Given the description of an element on the screen output the (x, y) to click on. 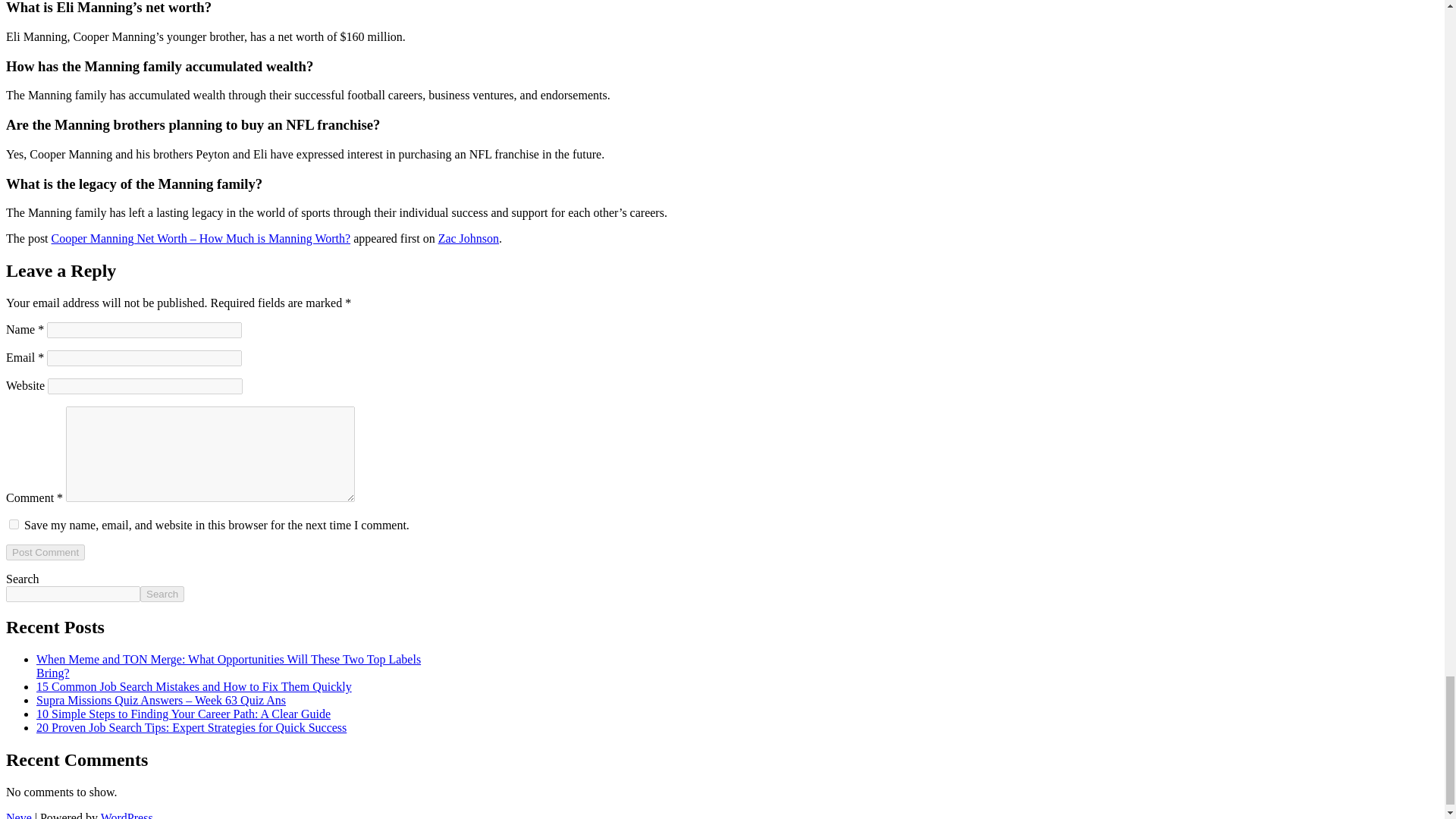
yes (13, 524)
Zac Johnson (468, 237)
Post Comment (44, 552)
Search (161, 593)
15 Common Job Search Mistakes and How to Fix Them Quickly (194, 686)
10 Simple Steps to Finding Your Career Path: A Clear Guide (183, 713)
Post Comment (44, 552)
